Given the description of an element on the screen output the (x, y) to click on. 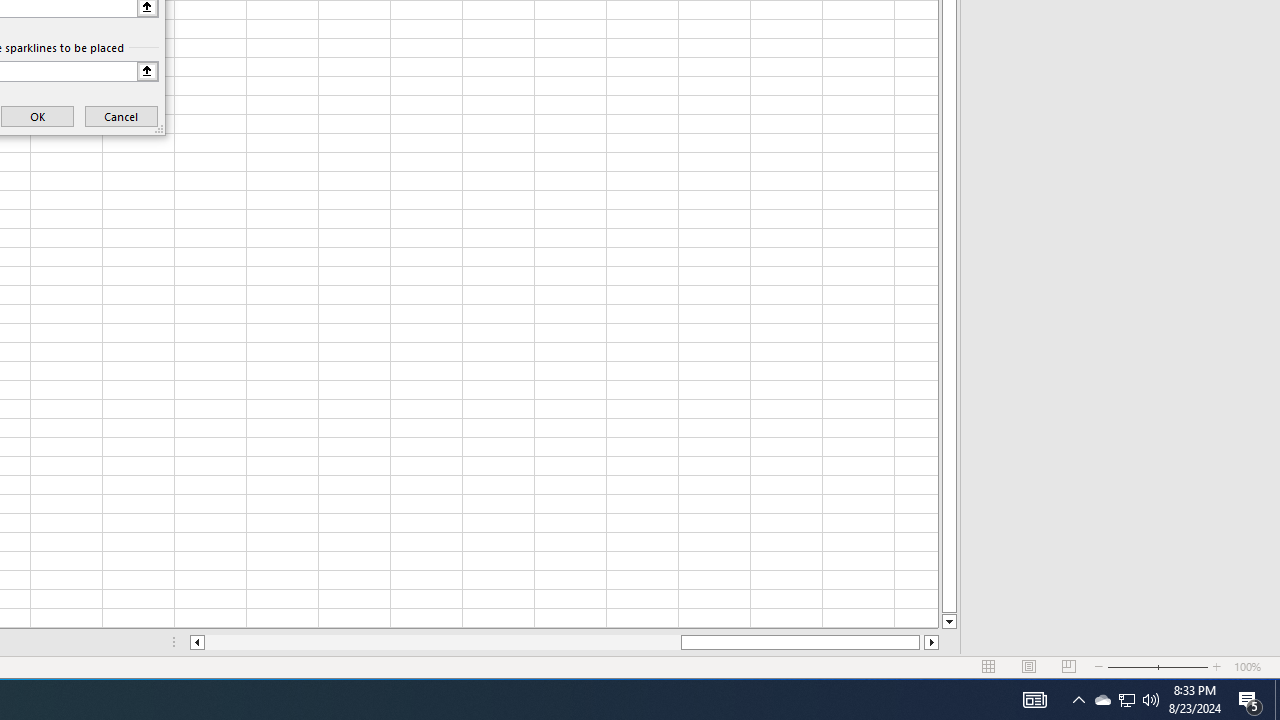
Line down (948, 622)
Page Break Preview (1069, 667)
Zoom (1158, 667)
Zoom Out (1131, 667)
Zoom In (1217, 667)
Page left (442, 642)
Column left (196, 642)
Column right (932, 642)
Class: NetUIScrollBar (564, 642)
Page right (922, 642)
